Given the description of an element on the screen output the (x, y) to click on. 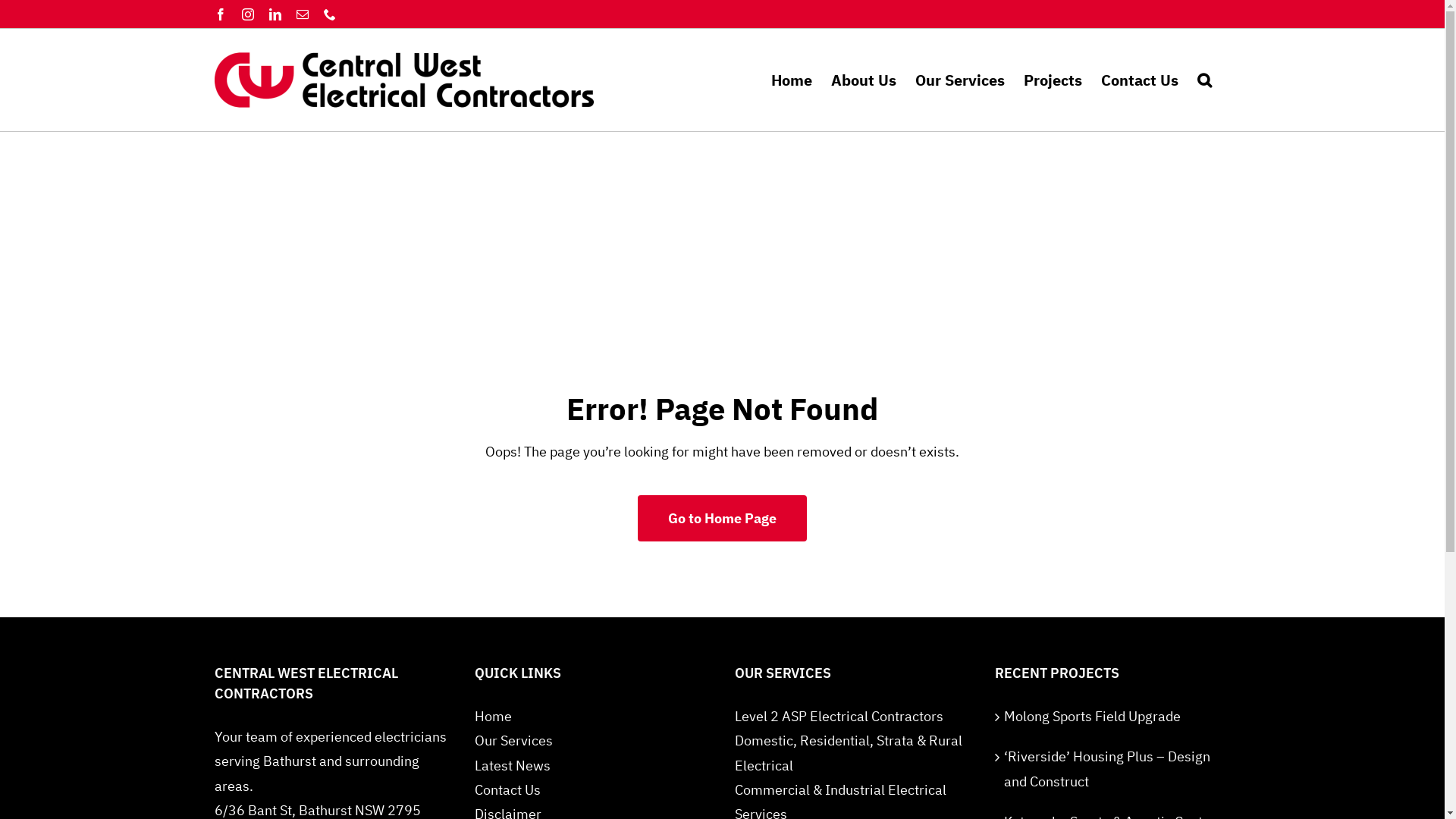
Projects Element type: text (1052, 79)
Molong Sports Field Upgrade Element type: text (1113, 716)
Domestic, Residential, Strata & Rural Electrical Element type: text (847, 752)
Contact Us Element type: text (507, 789)
Go to Home Page Element type: text (721, 518)
About Us Element type: text (863, 79)
Home Element type: text (492, 715)
Email Element type: text (301, 14)
LinkedIn Element type: text (274, 14)
Facebook Element type: text (219, 14)
Instagram Element type: text (247, 14)
Home Element type: text (790, 79)
Phone Element type: text (329, 14)
Level 2 ASP Electrical Contractors Element type: text (838, 715)
Our Services Element type: text (959, 79)
Latest News Element type: text (512, 765)
Contact Us Element type: text (1139, 79)
Search Element type: hover (1203, 79)
Our Services Element type: text (513, 740)
